Given the description of an element on the screen output the (x, y) to click on. 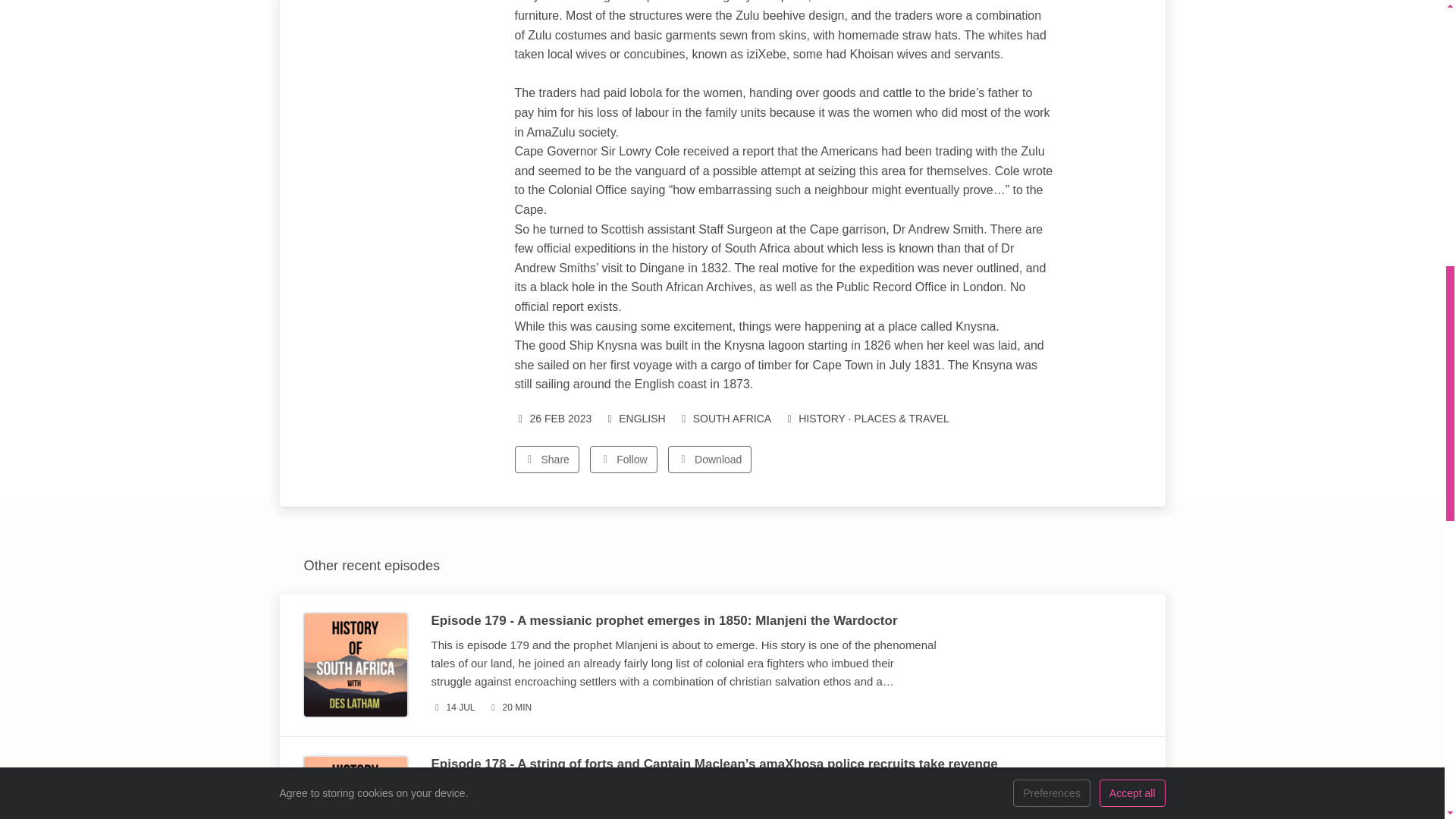
Duration (509, 707)
Country (724, 418)
Language (634, 418)
Publish date (552, 418)
Categories (866, 418)
Published (452, 707)
